Given the description of an element on the screen output the (x, y) to click on. 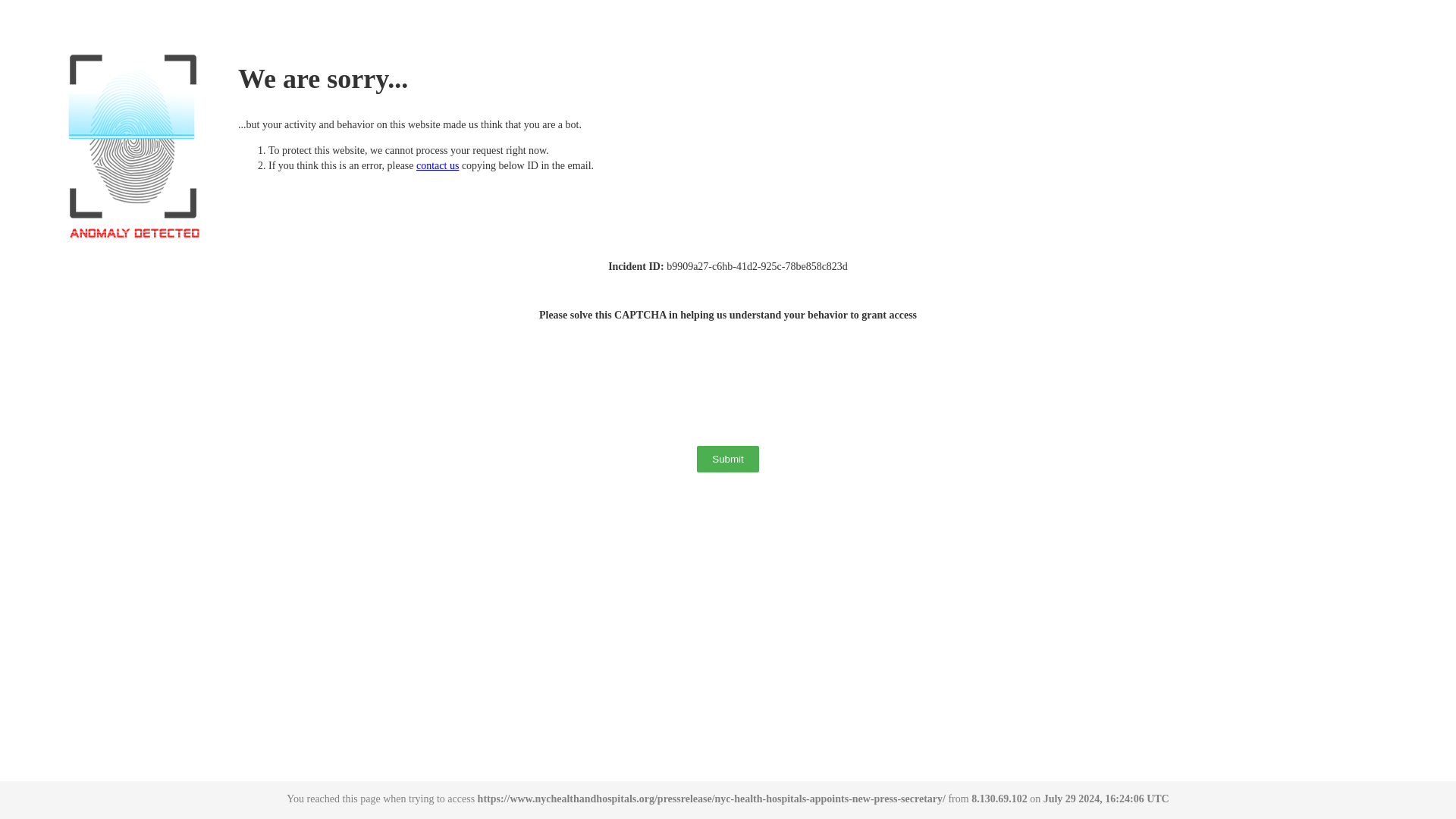
Submit (727, 458)
Widget containing checkbox for hCaptcha security challenge (729, 377)
Submit (727, 458)
contact us (437, 165)
